Given the description of an element on the screen output the (x, y) to click on. 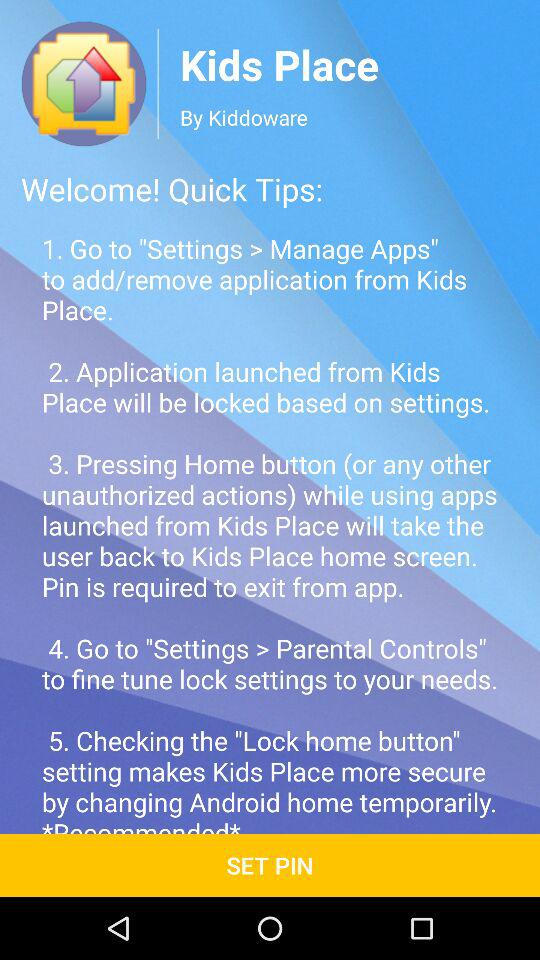
turn on icon below the 1 go to (270, 864)
